Given the description of an element on the screen output the (x, y) to click on. 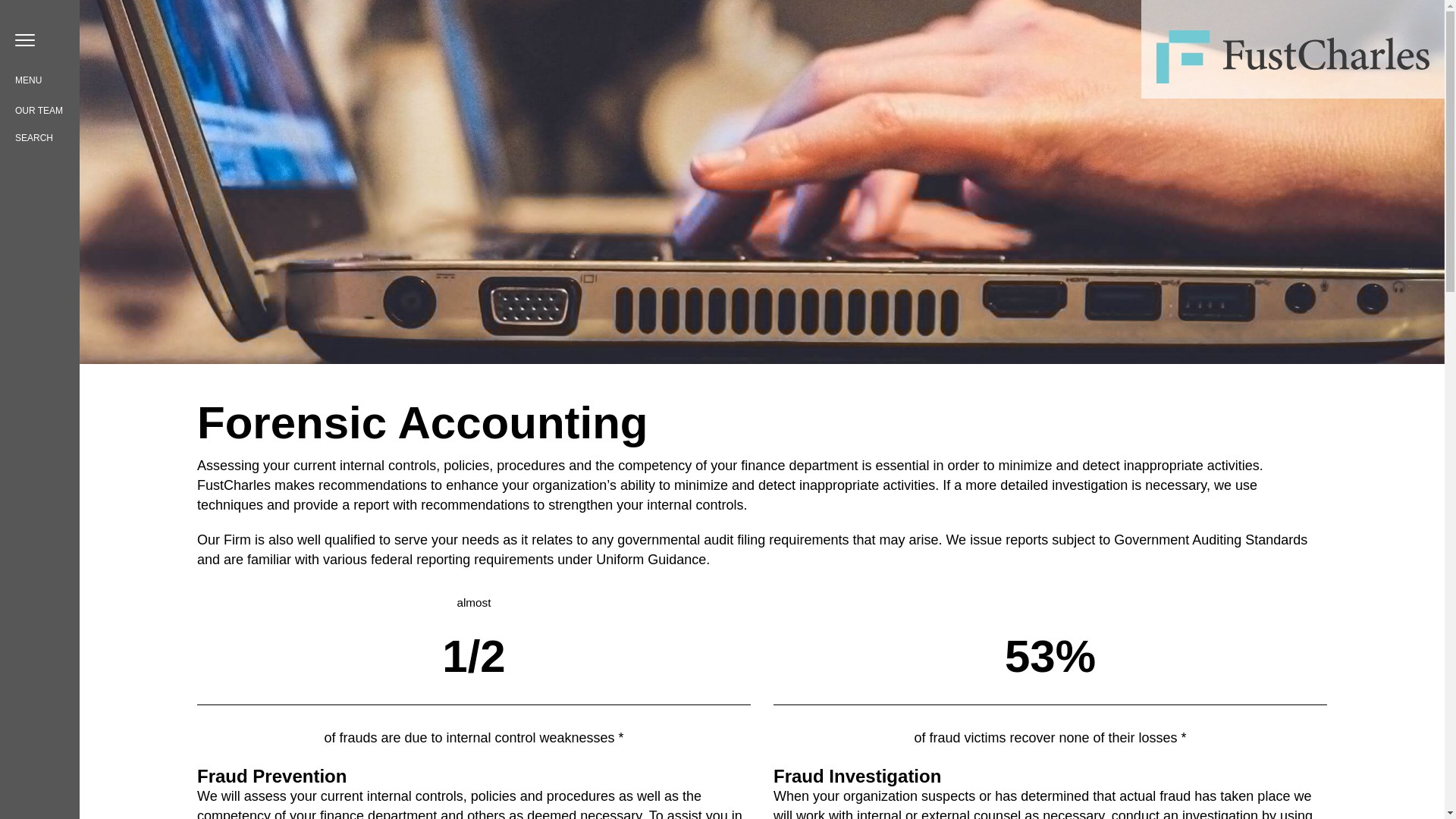
MENU (26, 77)
SEARCH (33, 137)
OUR TEAM (38, 110)
